Given the description of an element on the screen output the (x, y) to click on. 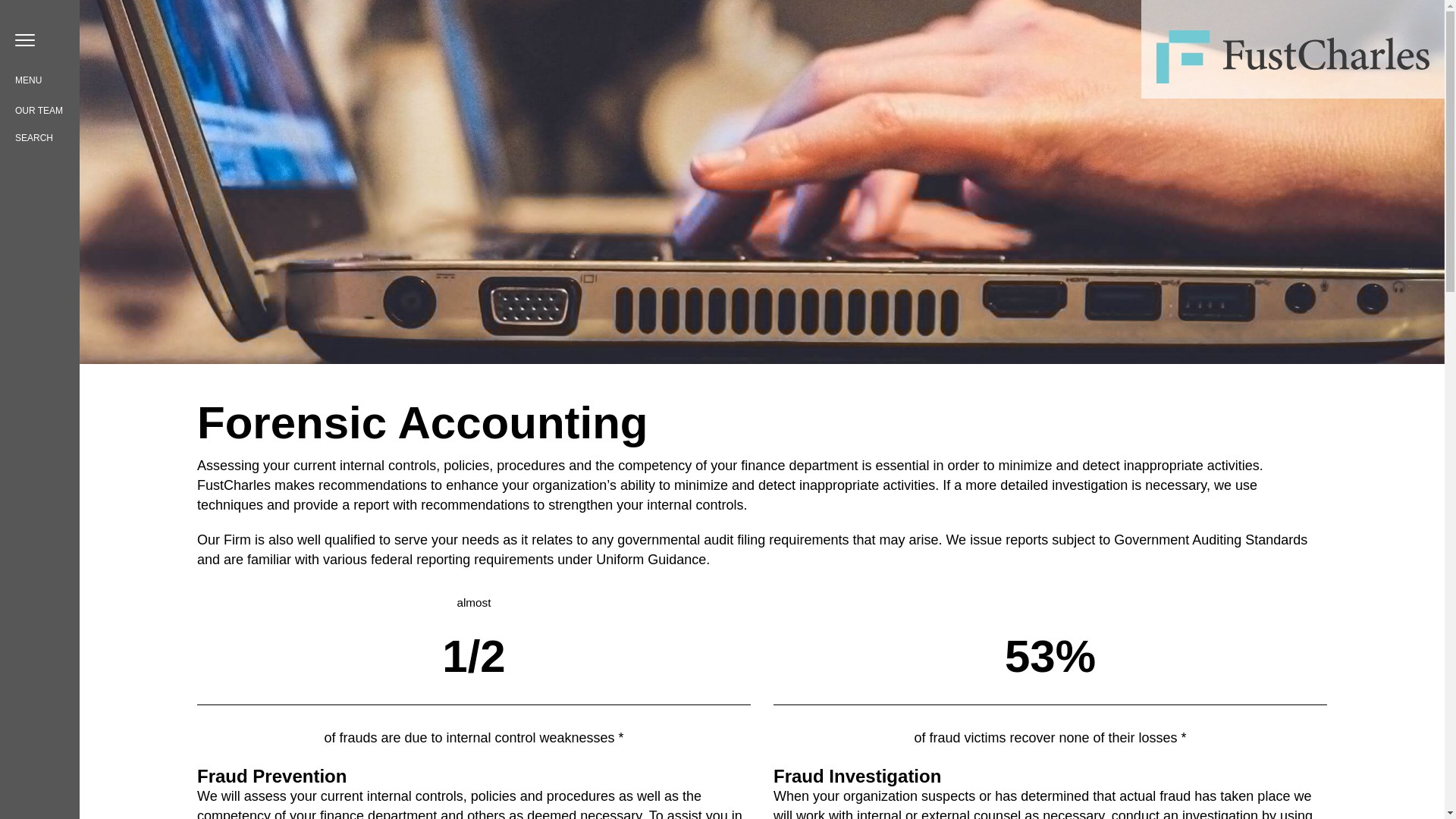
MENU (26, 77)
SEARCH (33, 137)
OUR TEAM (38, 110)
